Given the description of an element on the screen output the (x, y) to click on. 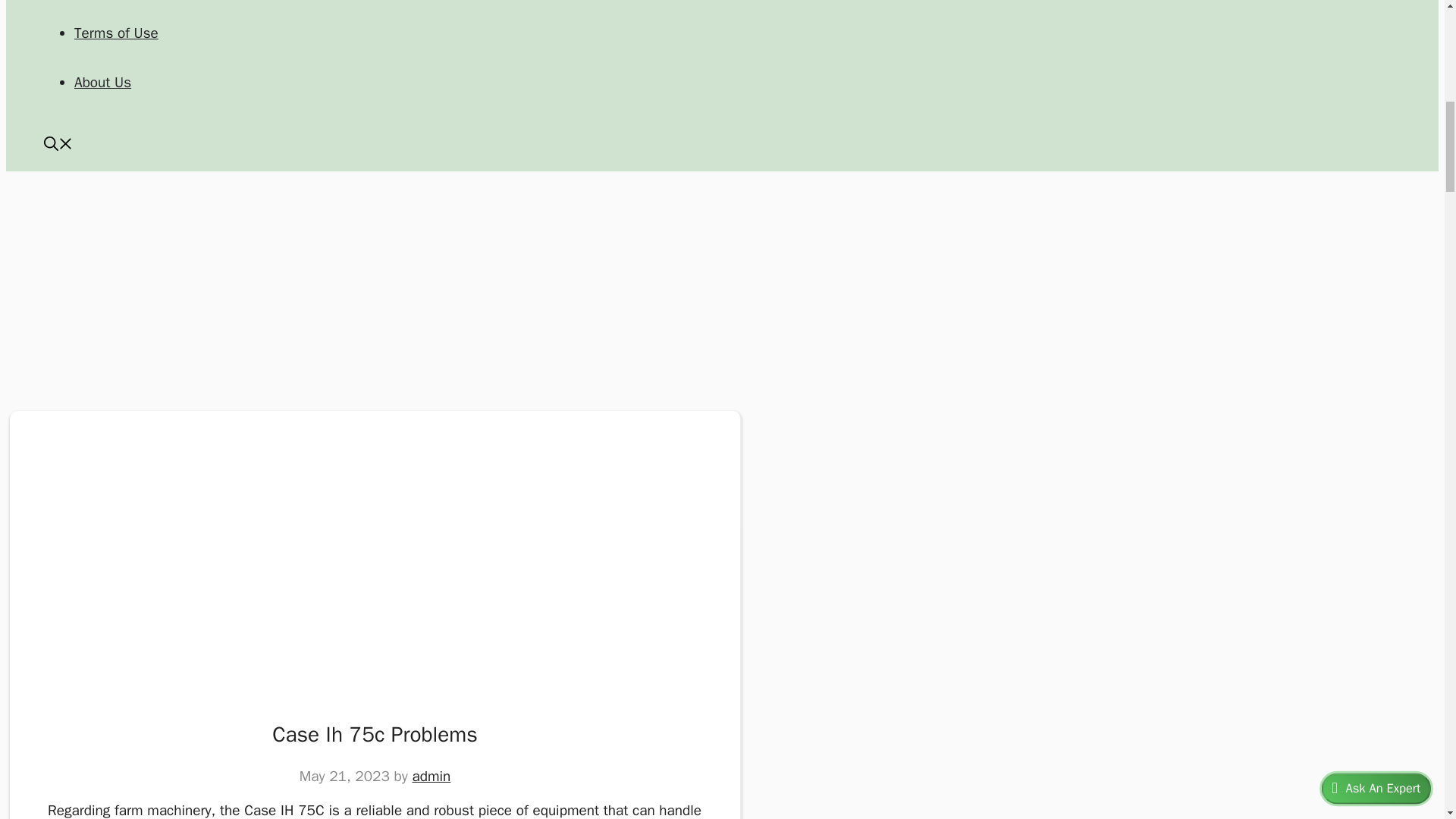
Terms of Use (116, 33)
case ih 75c problems 1 (234, 574)
admin (431, 776)
View all posts by admin (431, 776)
About Us (102, 82)
